Given the description of an element on the screen output the (x, y) to click on. 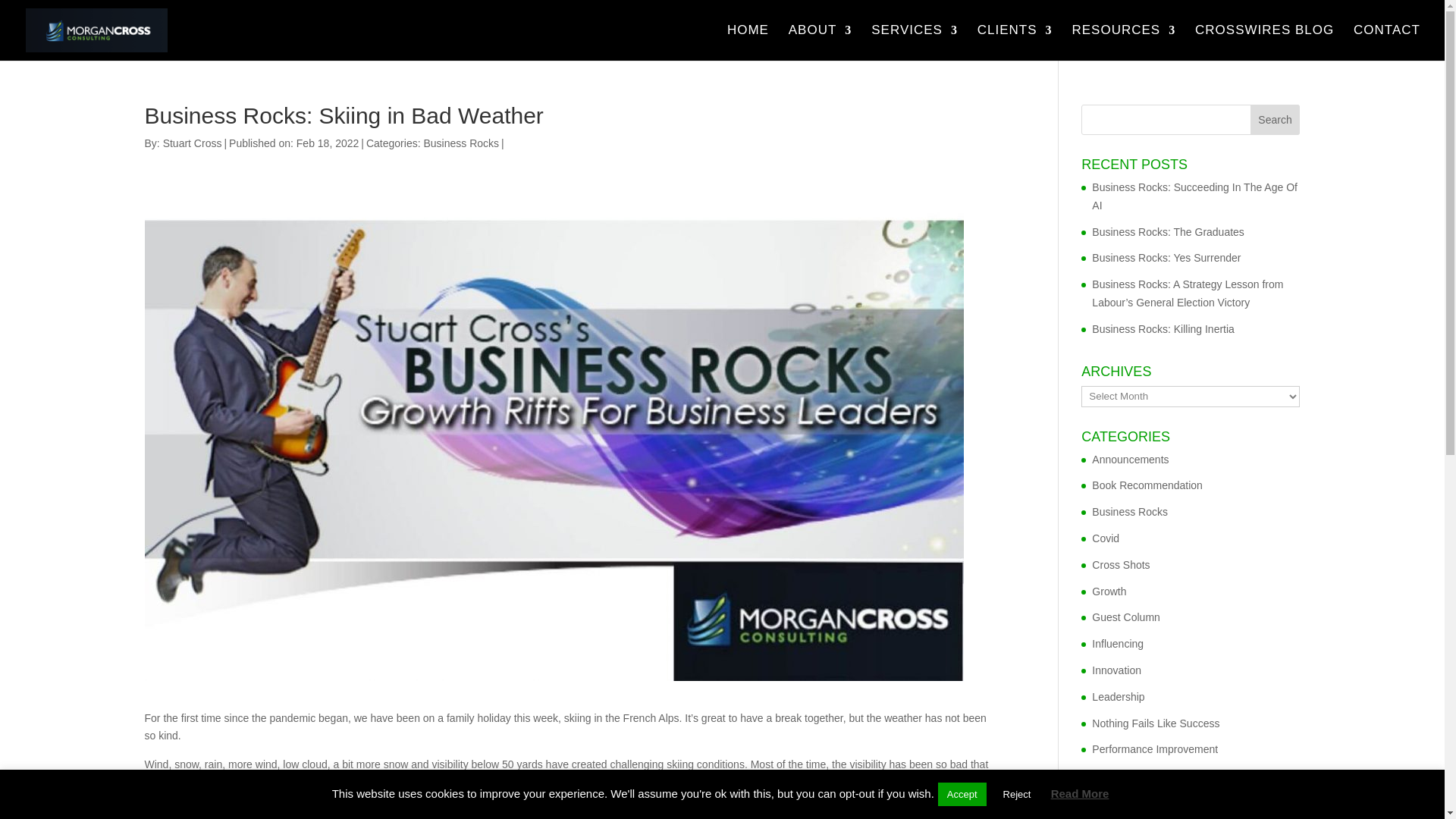
ABOUT (820, 42)
RESOURCES (1122, 42)
CLIENTS (1014, 42)
Search (1275, 119)
Posts by Stuart Cross (192, 143)
HOME (747, 42)
SERVICES (914, 42)
CROSSWIRES BLOG (1264, 42)
CONTACT (1387, 42)
